Given the description of an element on the screen output the (x, y) to click on. 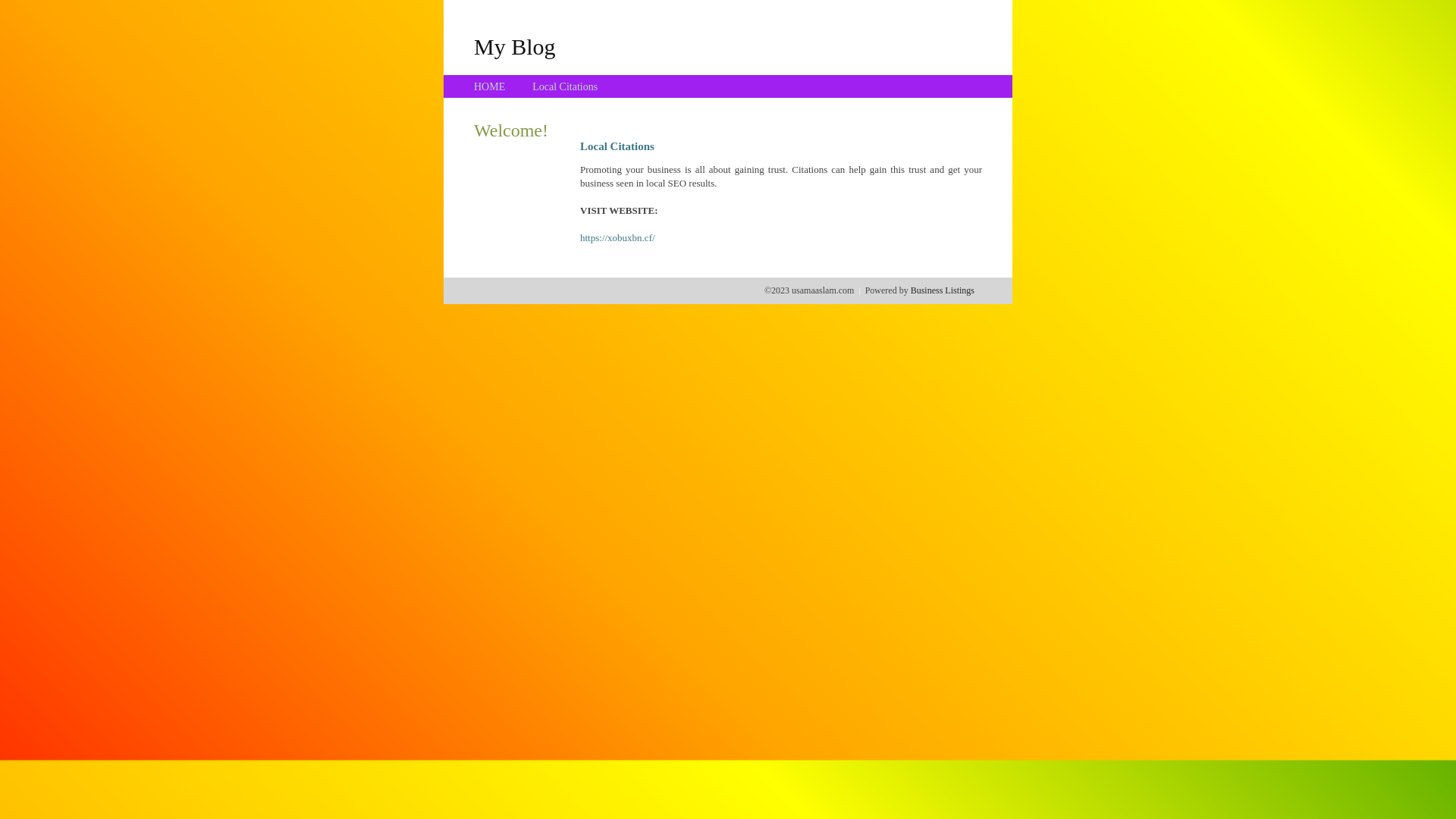
https://xobuxbn.cf/ Element type: text (617, 237)
Local Citations Element type: text (564, 86)
Business Listings Element type: text (942, 290)
HOME Element type: text (489, 86)
My Blog Element type: text (514, 46)
